Given the description of an element on the screen output the (x, y) to click on. 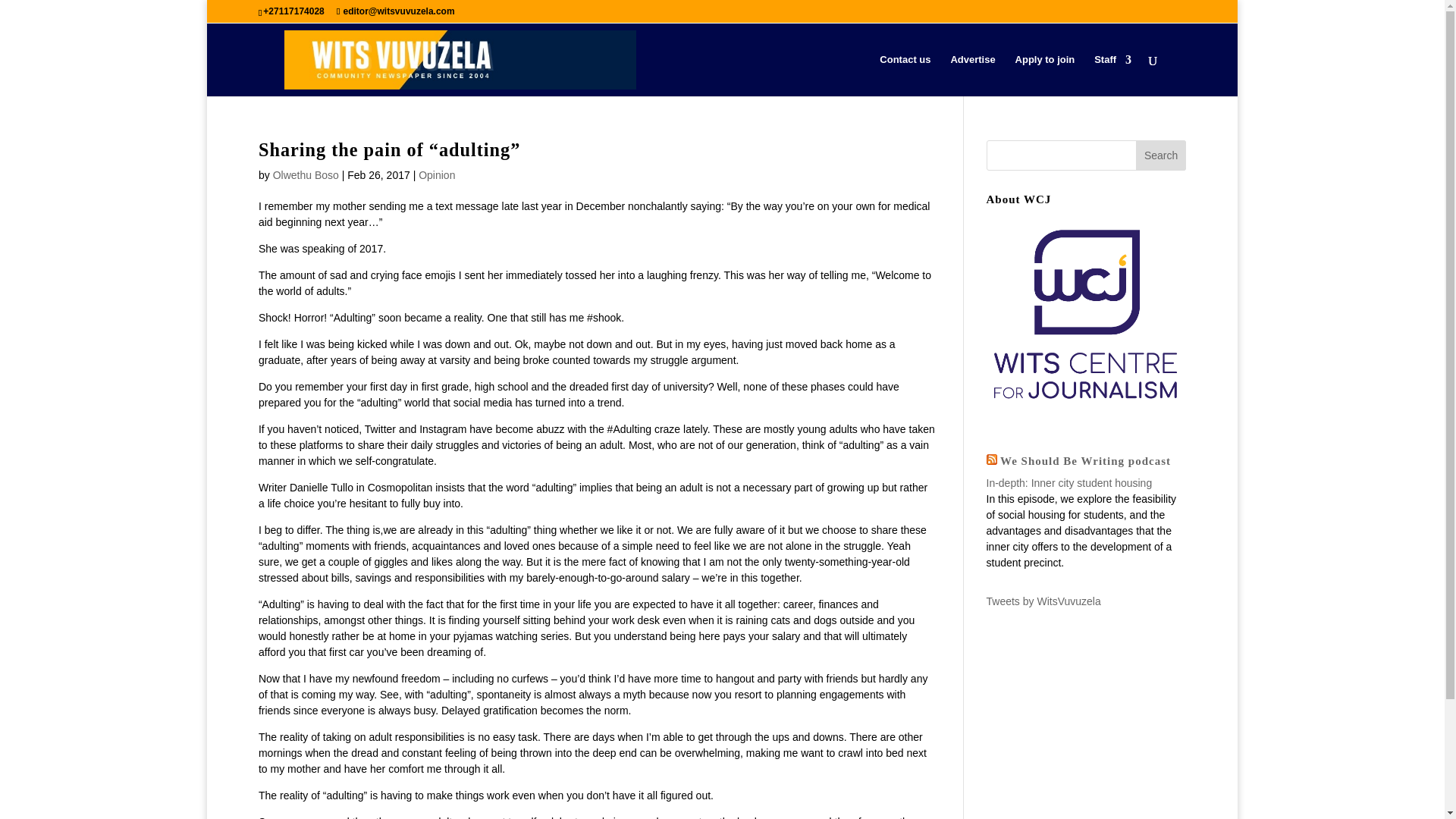
Contact us (904, 75)
Staff (1112, 75)
Apply to join (1044, 75)
Advertise (972, 75)
Posts by Olwethu Boso (306, 174)
Search (1160, 155)
